Given the description of an element on the screen output the (x, y) to click on. 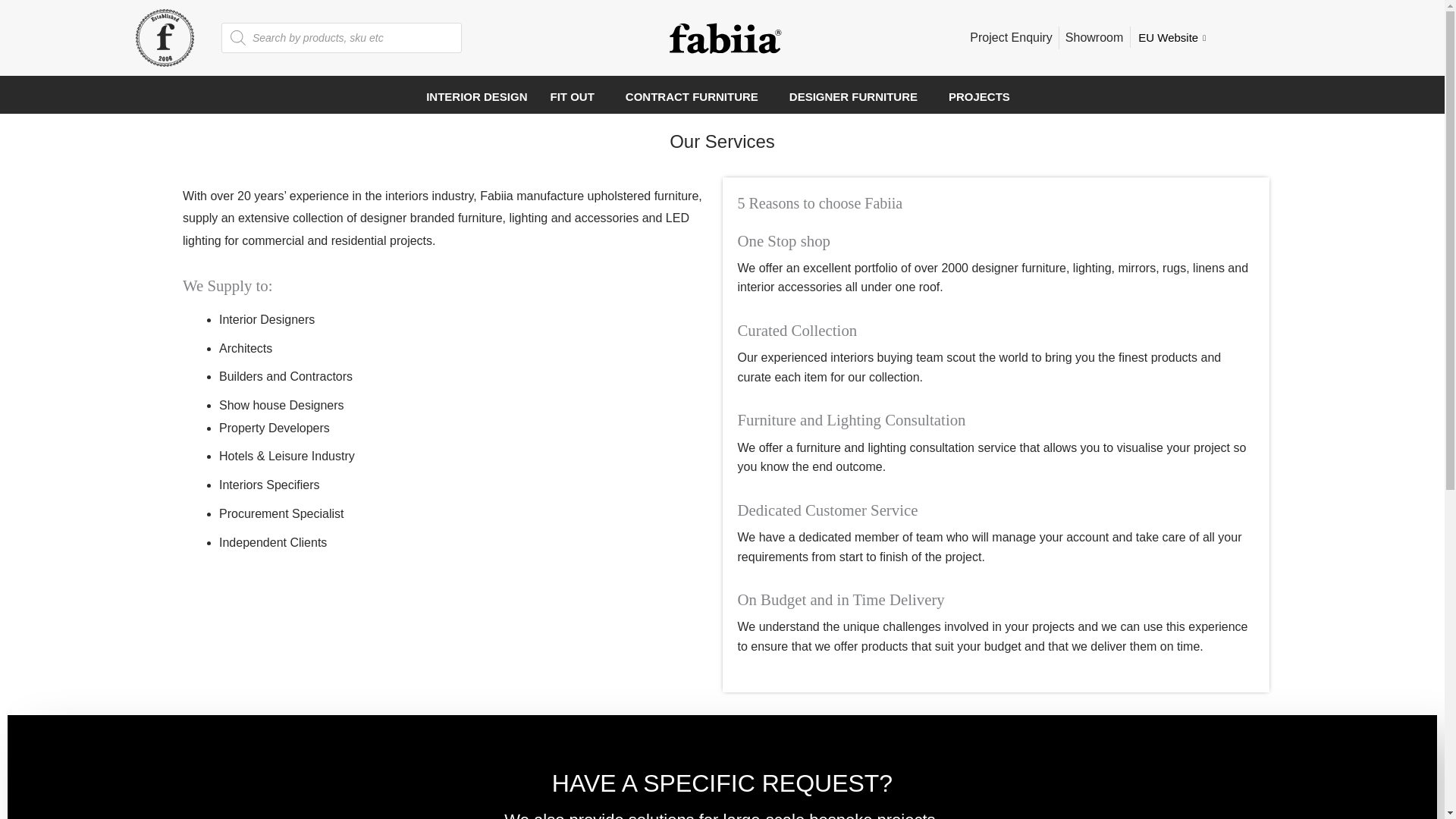
stamp - fabiia (164, 38)
EU Website (1173, 37)
Project Enquiry (1010, 37)
PROJECTS (983, 96)
CONTRACT FURNITURE (695, 96)
INTERIOR DESIGN (476, 96)
FIT OUT (575, 96)
Showroom (1093, 37)
fabiia-logo-black - fabiia (723, 37)
DESIGNER FURNITURE (857, 96)
